Given the description of an element on the screen output the (x, y) to click on. 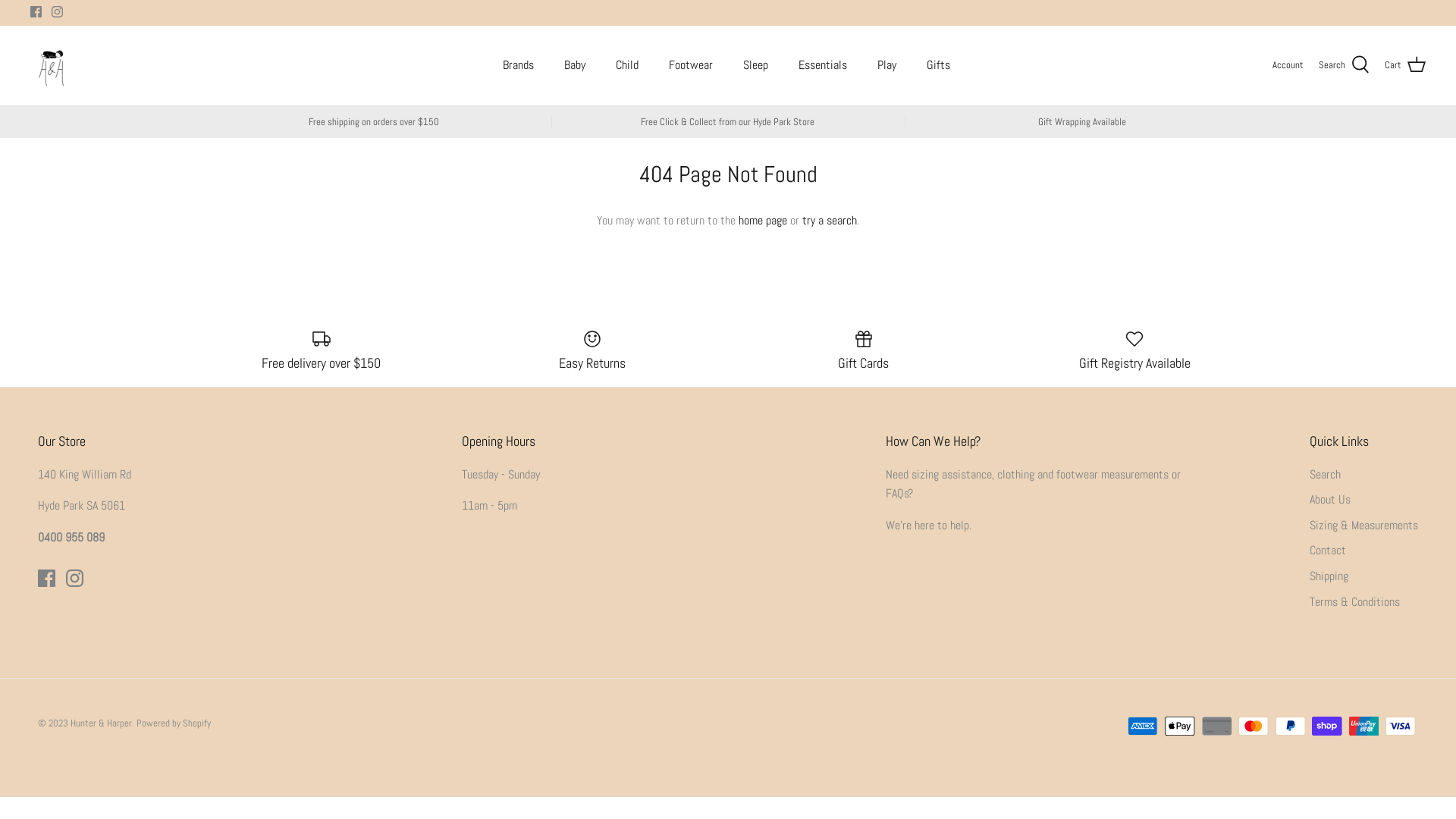
Instagram Element type: text (74, 577)
We're here to help. Element type: text (928, 525)
Instagram Element type: text (56, 11)
Hunter & Harper Element type: hover (51, 65)
Child Element type: text (627, 65)
Search Element type: text (1324, 474)
Baby Element type: text (574, 65)
Brands Element type: text (517, 65)
Powered by Shopify Element type: text (173, 722)
Shipping Element type: text (1328, 575)
Terms & Conditions Element type: text (1354, 601)
Hunter & Harper Element type: text (100, 722)
Facebook Element type: text (46, 577)
Cart Element type: text (1404, 65)
Essentials Element type: text (821, 65)
Sleep Element type: text (755, 65)
Gifts Element type: text (938, 65)
try a search Element type: text (829, 220)
Footwear Element type: text (690, 65)
About Us Element type: text (1329, 499)
Search Element type: text (1343, 65)
Sizing & Measurements Element type: text (1363, 525)
Facebook Element type: text (35, 11)
Play Element type: text (885, 65)
home page Element type: text (762, 220)
Contact Element type: text (1327, 550)
Account Element type: text (1287, 65)
